Given the description of an element on the screen output the (x, y) to click on. 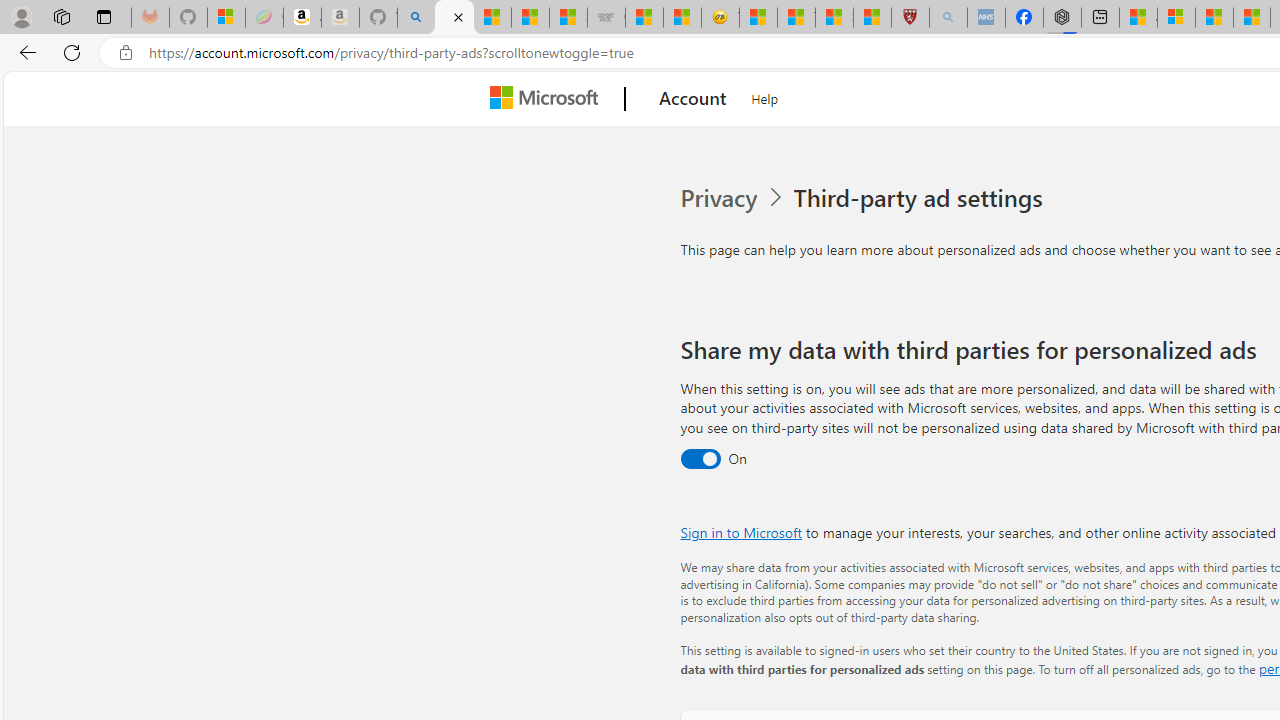
Account (692, 99)
Third-party ad settings (922, 197)
